Given the description of an element on the screen output the (x, y) to click on. 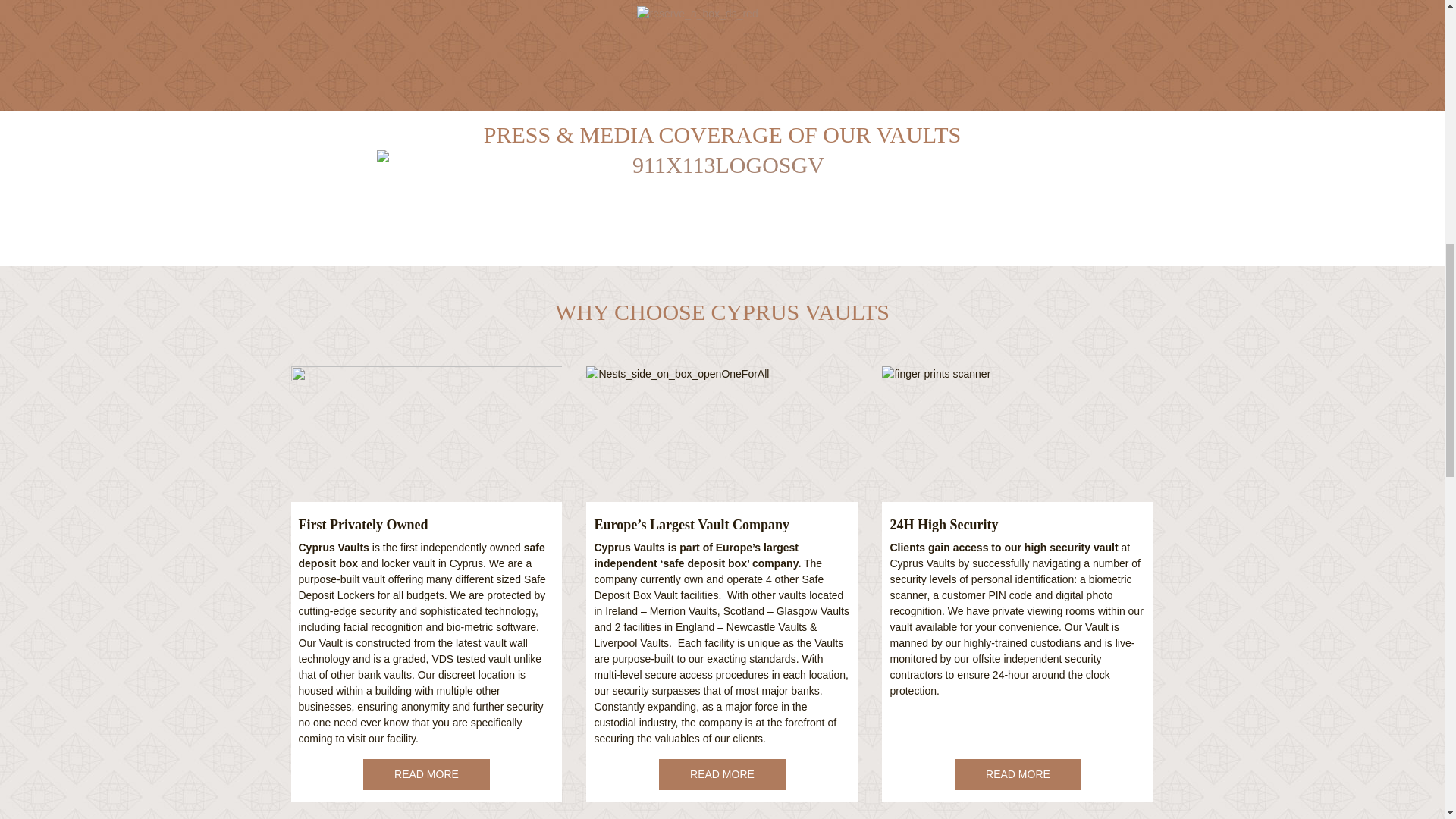
READ MORE (425, 774)
READ MORE (722, 774)
About Safe Deposit Boxes (722, 774)
READ MORE (1018, 774)
About Safe Deposit Boxes (425, 774)
About Safety Deposit Box (1018, 774)
